Given the description of an element on the screen output the (x, y) to click on. 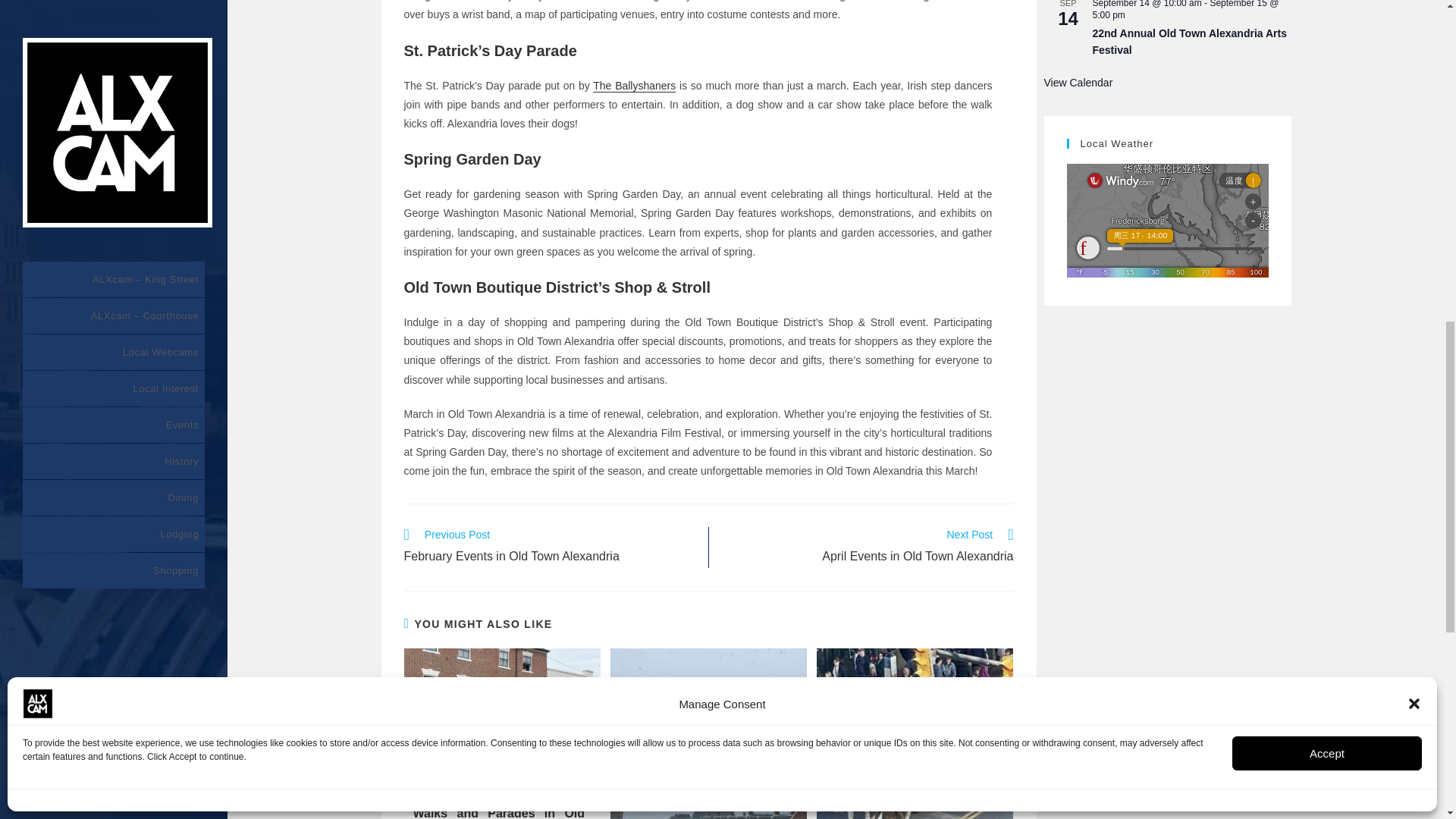
22nd Annual Old Town Alexandria Arts Festival (1188, 42)
View more events. (1077, 82)
Ventus Weather Map Widget 38.311 -77.038 (1166, 220)
